Given the description of an element on the screen output the (x, y) to click on. 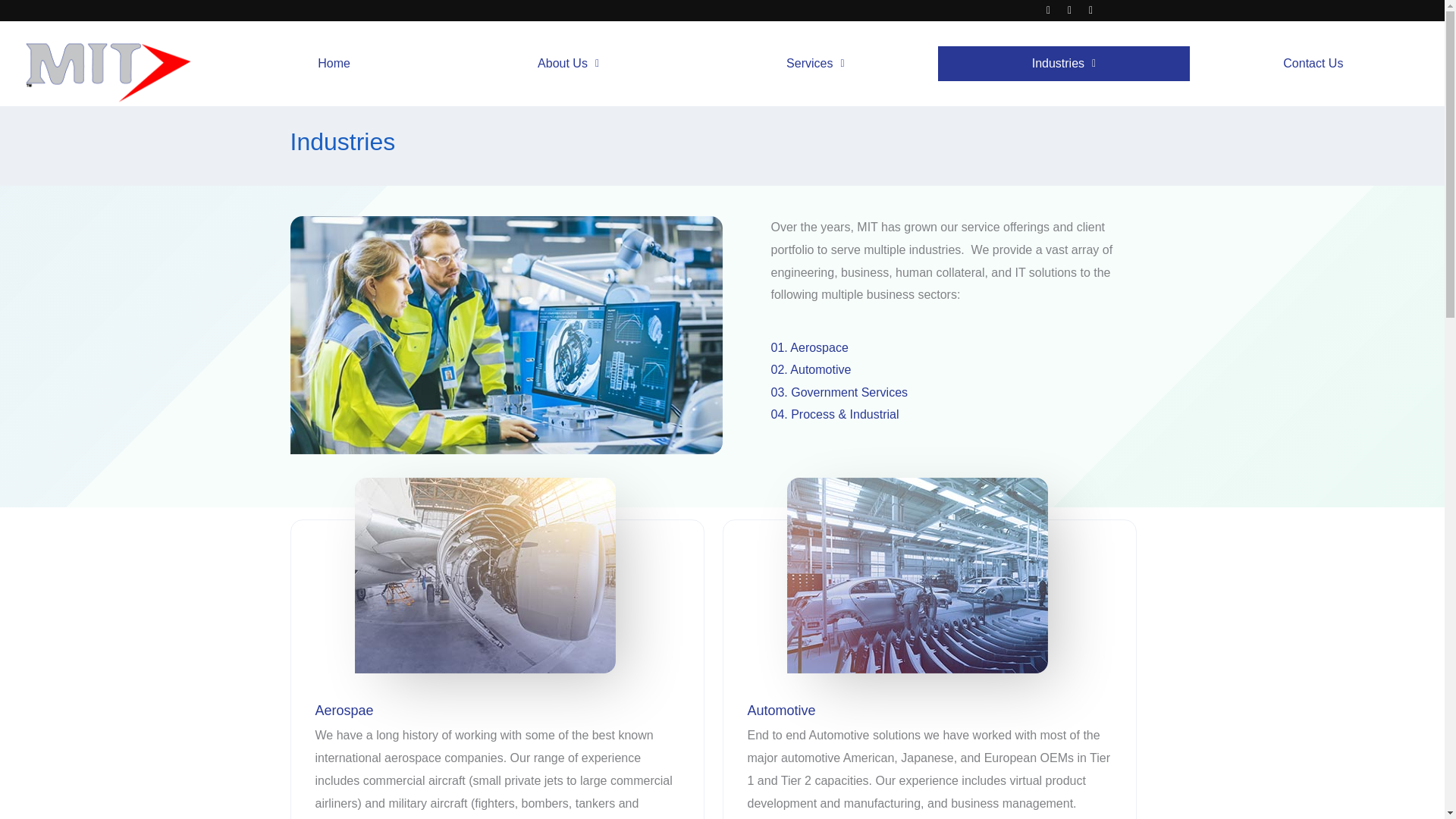
Services (816, 63)
Home (334, 63)
Contact Us (1313, 63)
Industries (1063, 63)
About Us (568, 63)
